Given the description of an element on the screen output the (x, y) to click on. 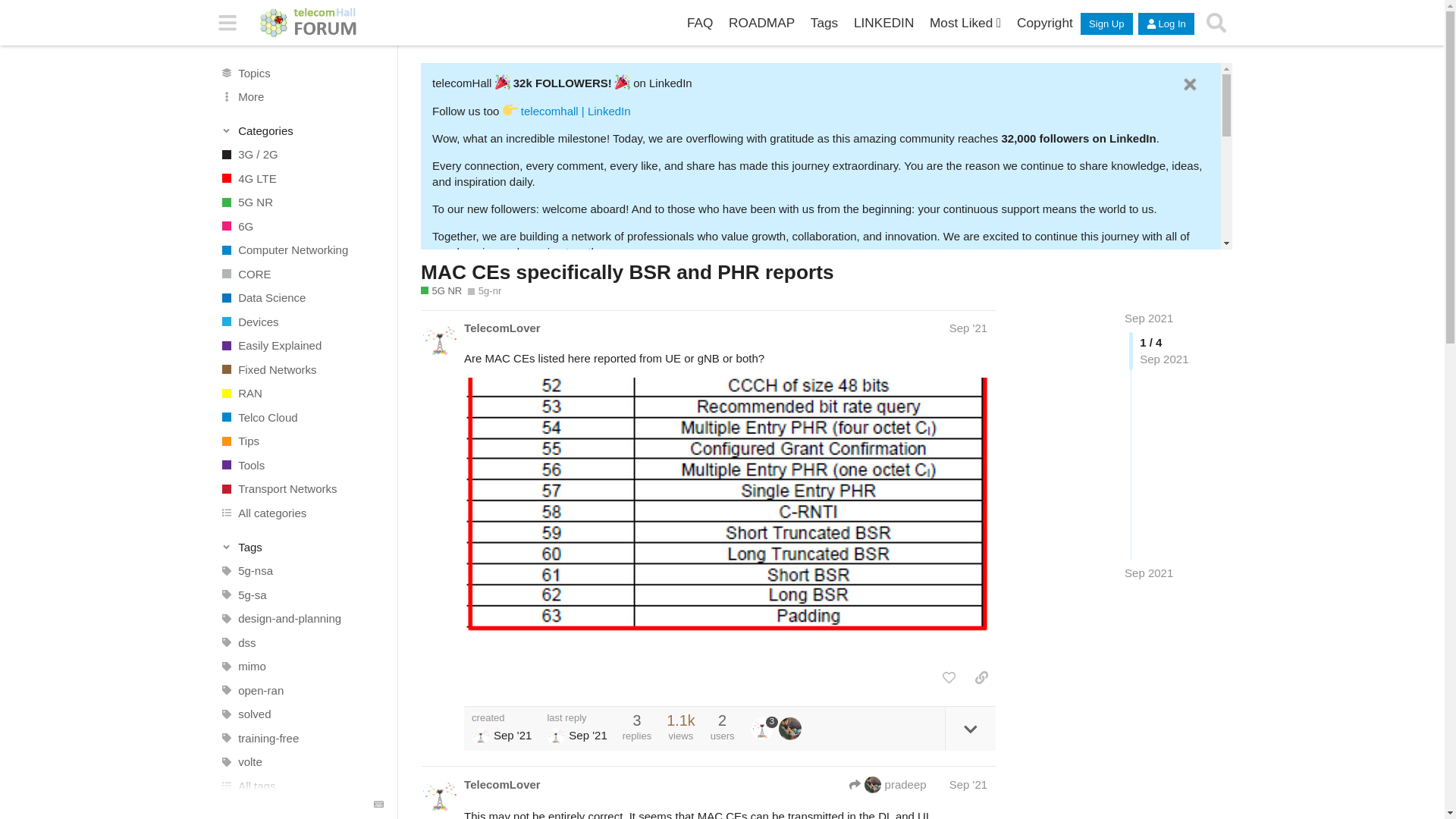
solved (295, 713)
Computer Networking (295, 250)
mimo (295, 666)
Topics (295, 72)
Tags (823, 22)
Community FAQs and Guidelines (699, 22)
Devices specific topics. (295, 322)
5g-sa (295, 594)
ROADMAP (761, 22)
Tips (295, 441)
Data Science (295, 297)
Report Copyright Infringement (1044, 22)
All topics (295, 72)
5g-nsa (295, 570)
